Given the description of an element on the screen output the (x, y) to click on. 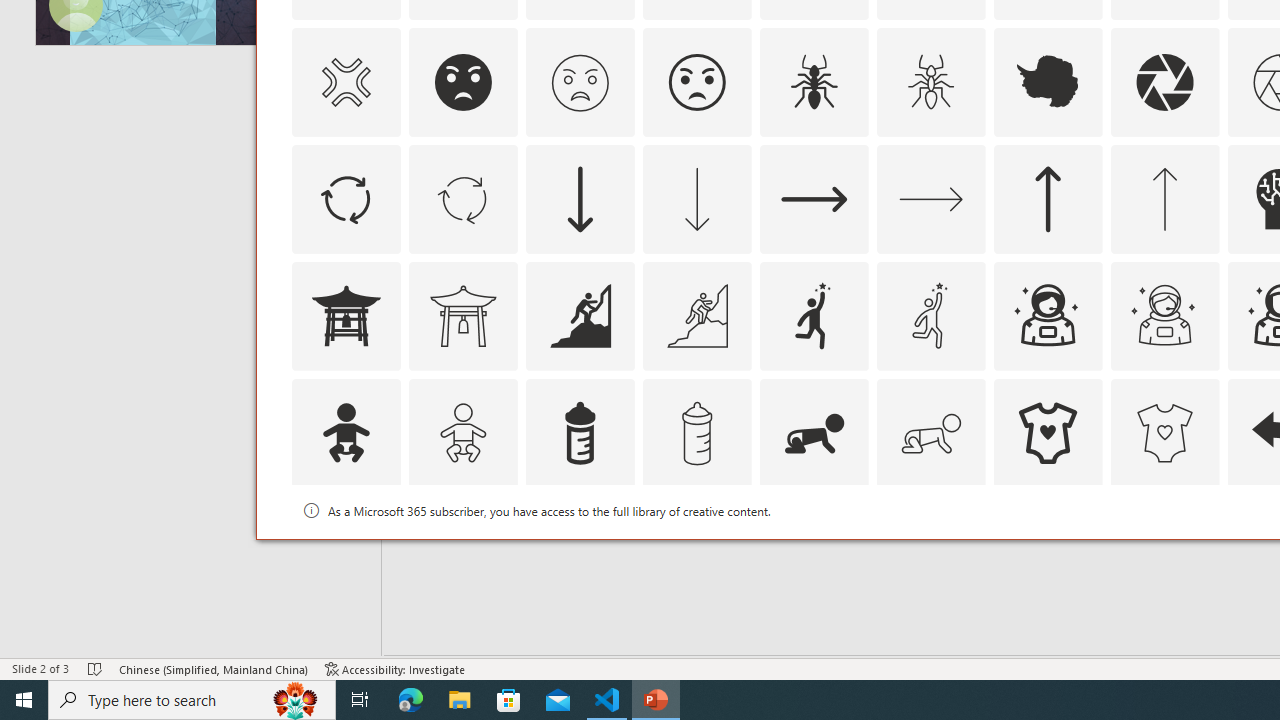
AutomationID: Icons_Badge5 (1164, 550)
AutomationID: Icons_ArrowCircle (345, 198)
AutomationID: Icons_Baby_M (463, 432)
AutomationID: Icons_AngryFace (463, 82)
Microsoft Edge (411, 699)
